Given the description of an element on the screen output the (x, y) to click on. 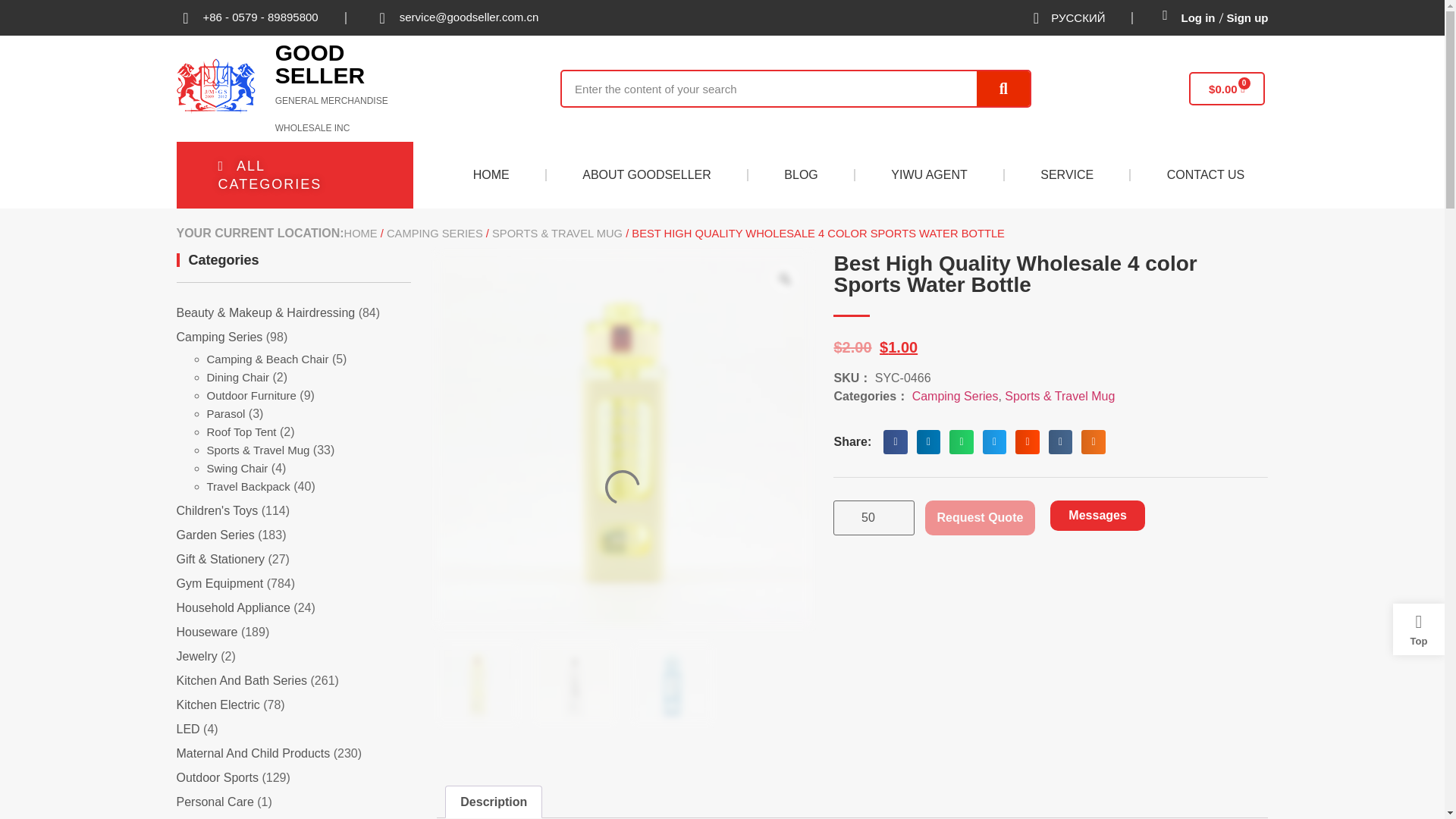
GOOD SELLER (320, 63)
50 (873, 517)
ALL CATEGORIES (294, 174)
Sports Cup (574, 682)
Sports Bottle (477, 682)
Sports Water Bottle (672, 682)
Log in (1197, 17)
